Given the description of an element on the screen output the (x, y) to click on. 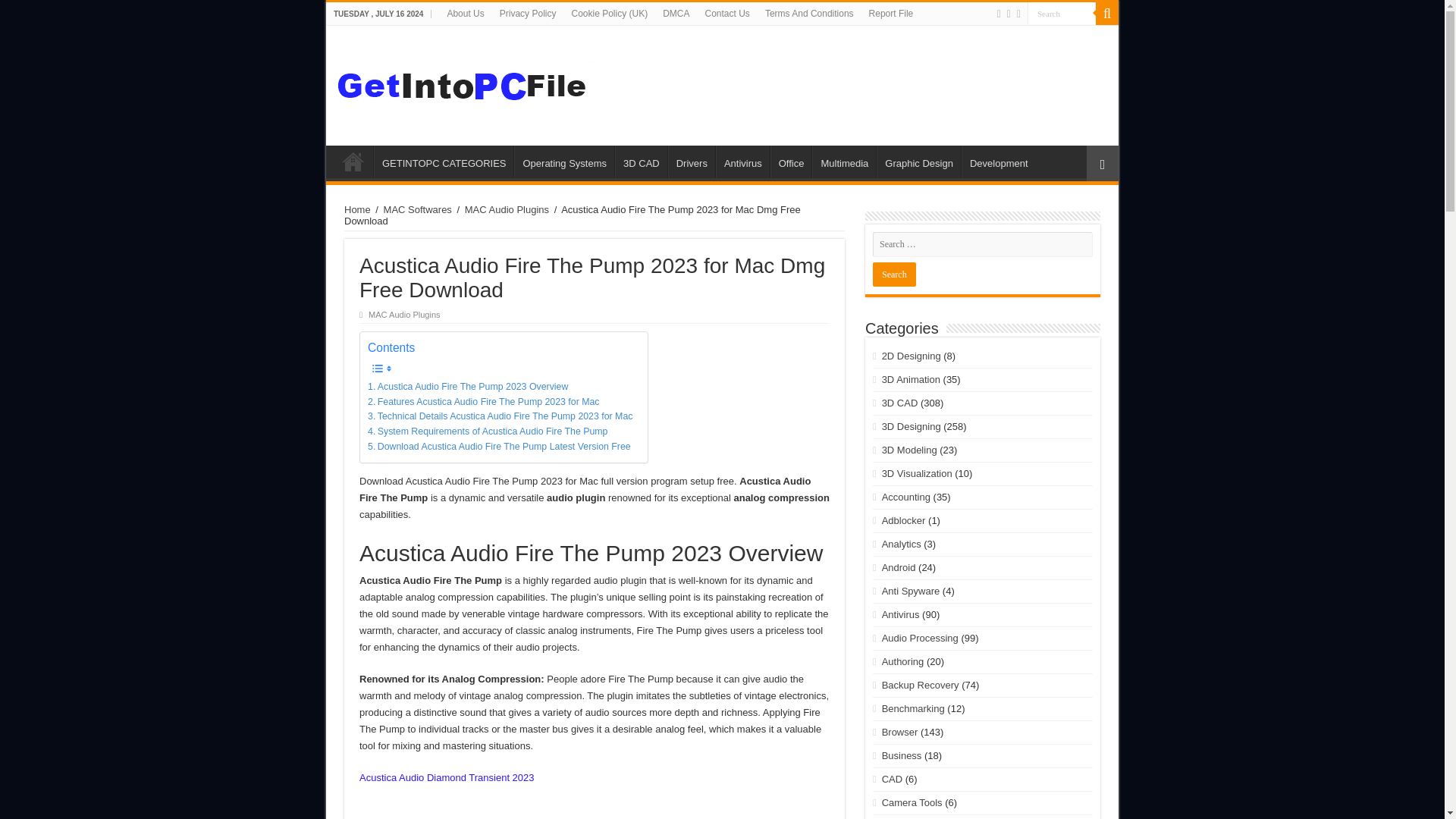
System Requirements of Acustica Audio Fire The Pump (488, 432)
Terms And Conditions (809, 13)
About Us (465, 13)
Pinterest (1018, 13)
Operating Systems (563, 161)
Development (997, 161)
Technical Details Acustica Audio Fire The Pump 2023 for Mac (499, 417)
Acustica Audio Fire The Pump 2023 Overview (467, 387)
Report File (891, 13)
3D CAD (640, 161)
MAC Softwares (417, 209)
Search (893, 274)
Get Into PC (464, 82)
Search (893, 274)
